Given the description of an element on the screen output the (x, y) to click on. 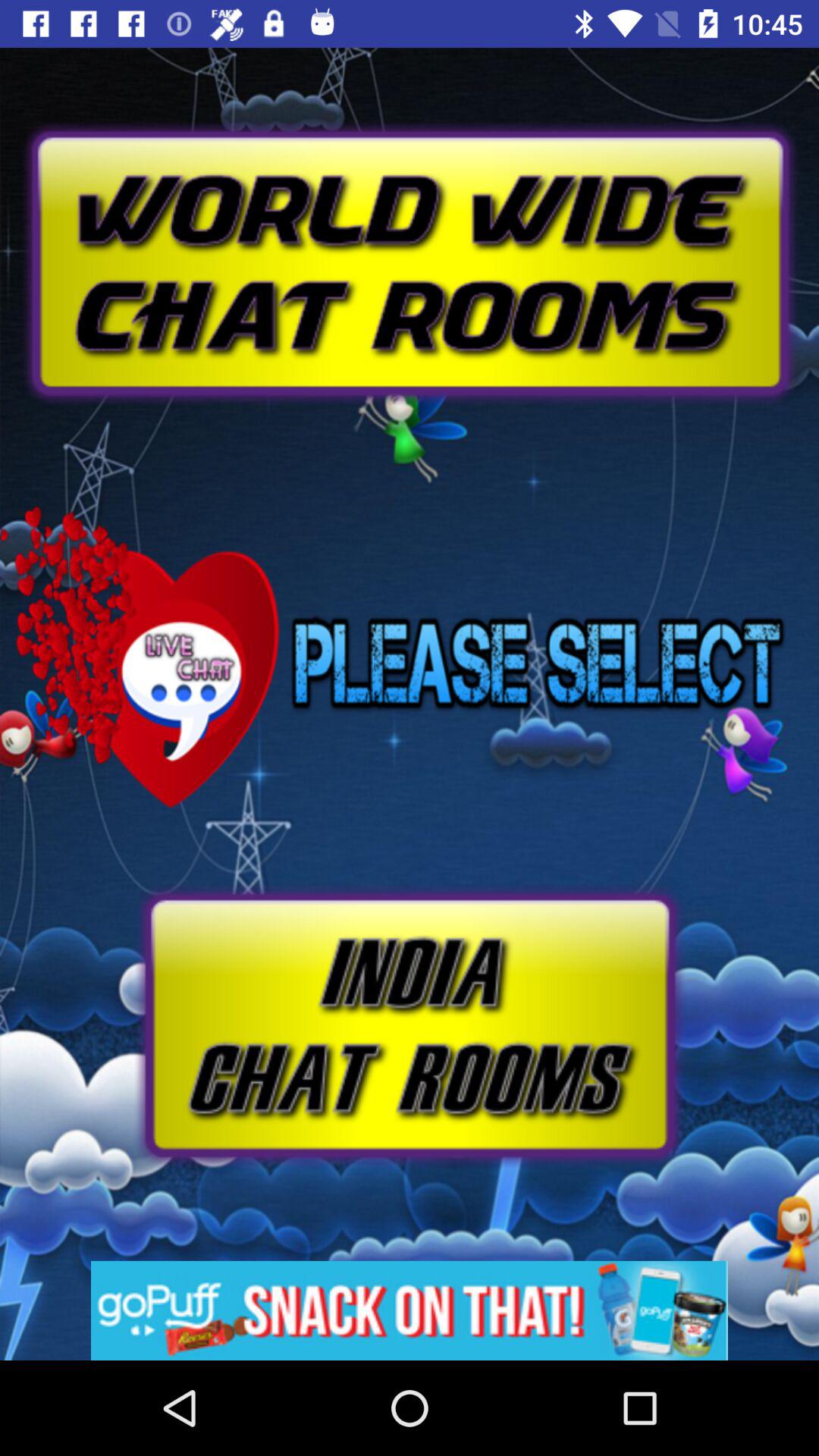
go to india chat rooms (409, 1025)
